Given the description of an element on the screen output the (x, y) to click on. 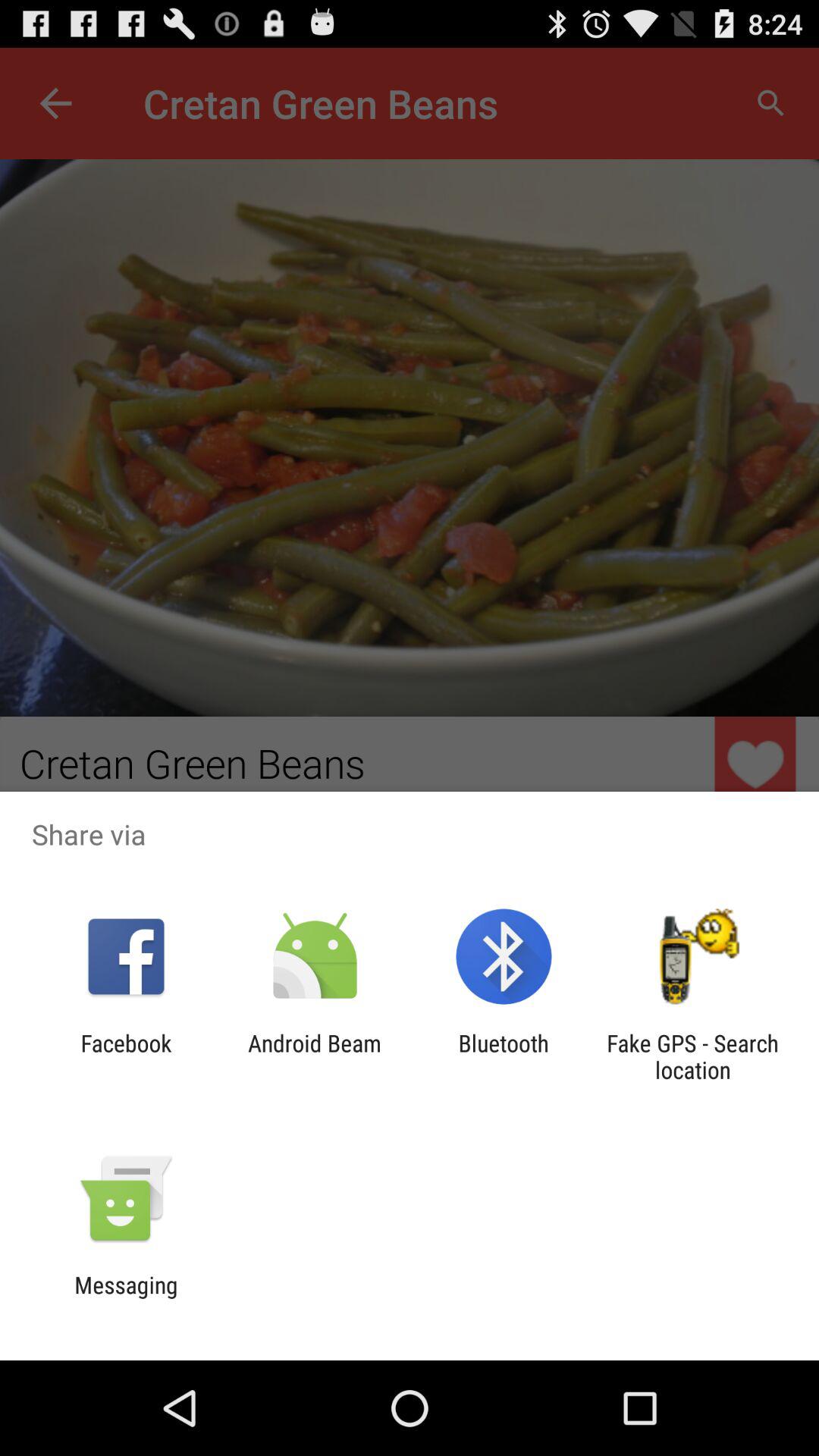
press icon next to android beam (503, 1056)
